Given the description of an element on the screen output the (x, y) to click on. 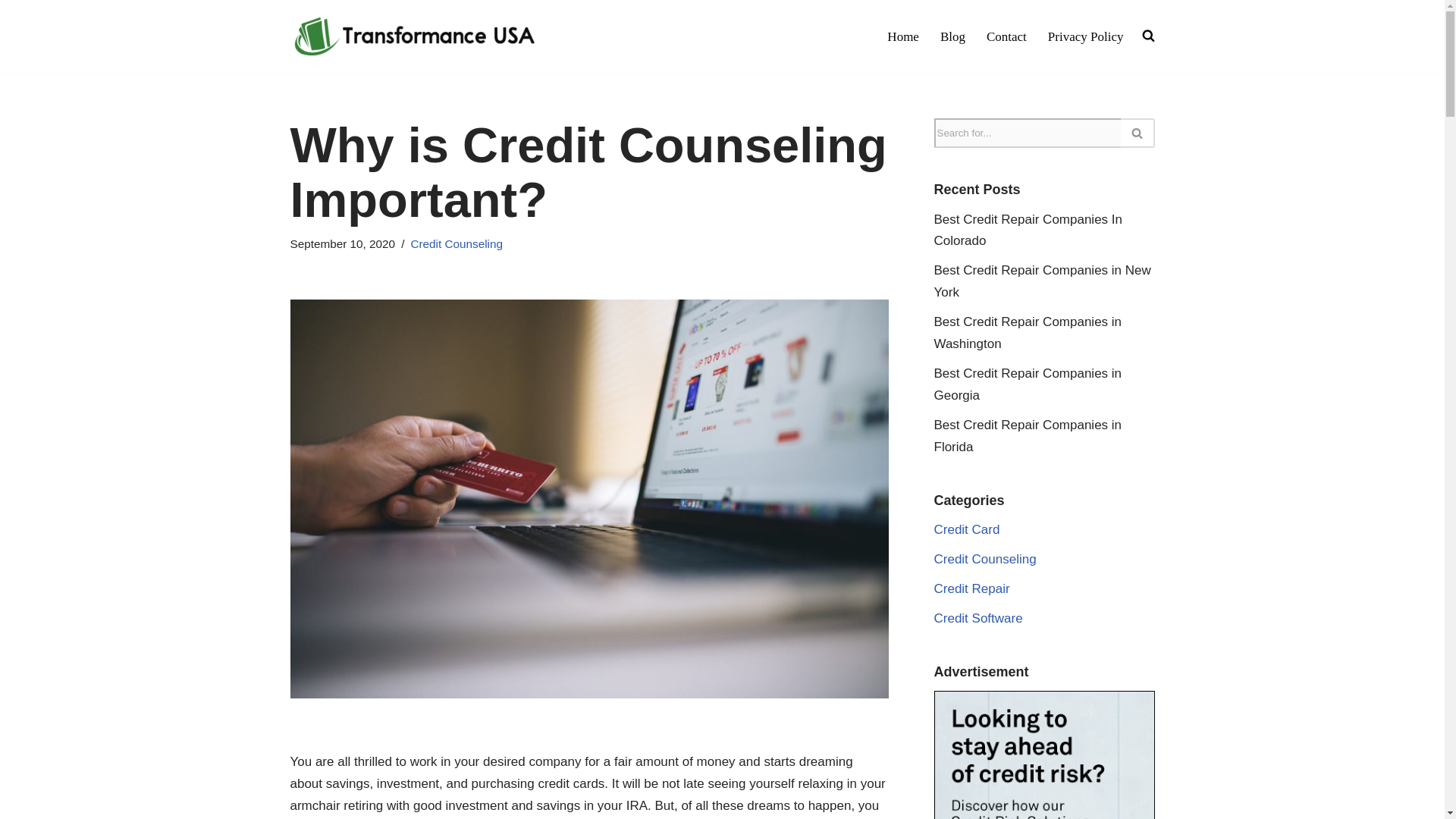
Best Credit Repair Companies in Georgia (1028, 384)
Credit Counseling (985, 559)
Credit Repair (972, 588)
Skip to content (11, 31)
Privacy Policy (1086, 35)
Blog (952, 35)
Best Credit Repair Companies in New York (1042, 280)
Best Credit Repair Companies In Colorado (1028, 230)
Credit Software (978, 617)
Credit Card (967, 529)
